Given the description of an element on the screen output the (x, y) to click on. 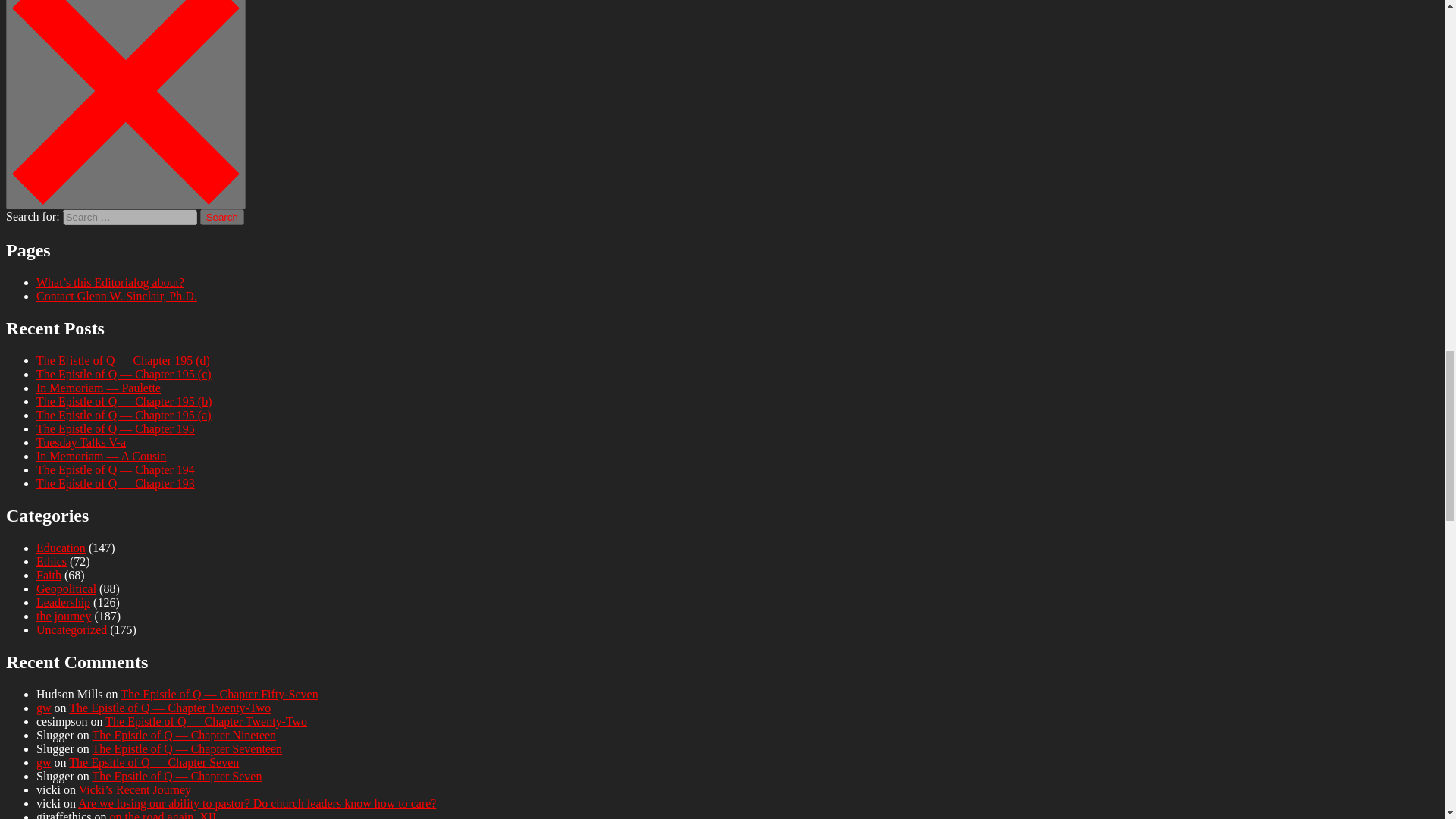
Contact Glenn W. Sinclair, Ph.D. (116, 295)
Search (222, 217)
Geopolitical (66, 588)
Leadership (63, 602)
Education (60, 547)
gw (43, 762)
Hide sidebar (125, 104)
Tuesday Talks V-a (80, 441)
Search (222, 217)
Faith (48, 574)
